Given the description of an element on the screen output the (x, y) to click on. 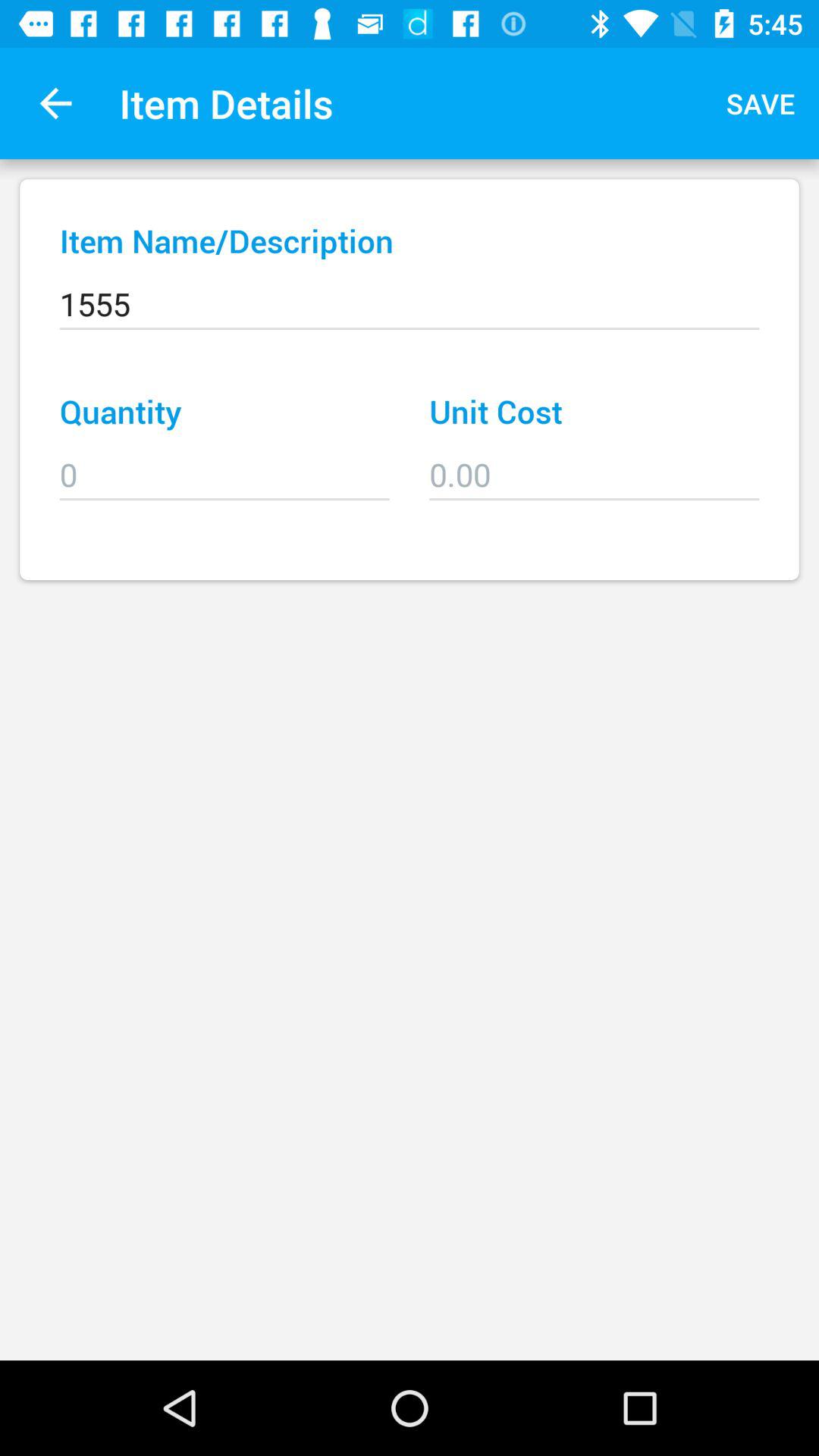
turn on item above the item name/description icon (55, 103)
